Given the description of an element on the screen output the (x, y) to click on. 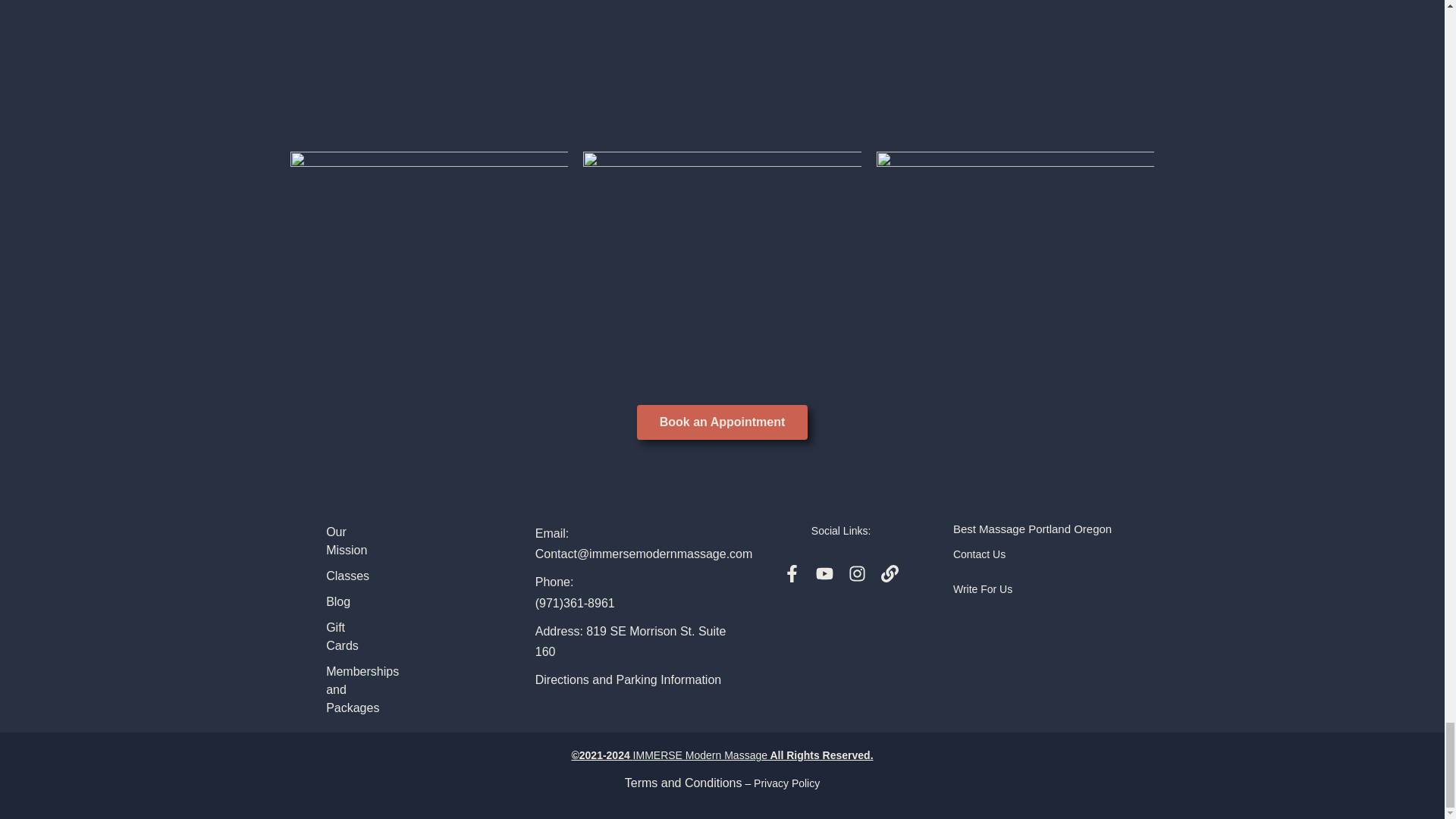
IMMERSE modern massage (721, 41)
